Given the description of an element on the screen output the (x, y) to click on. 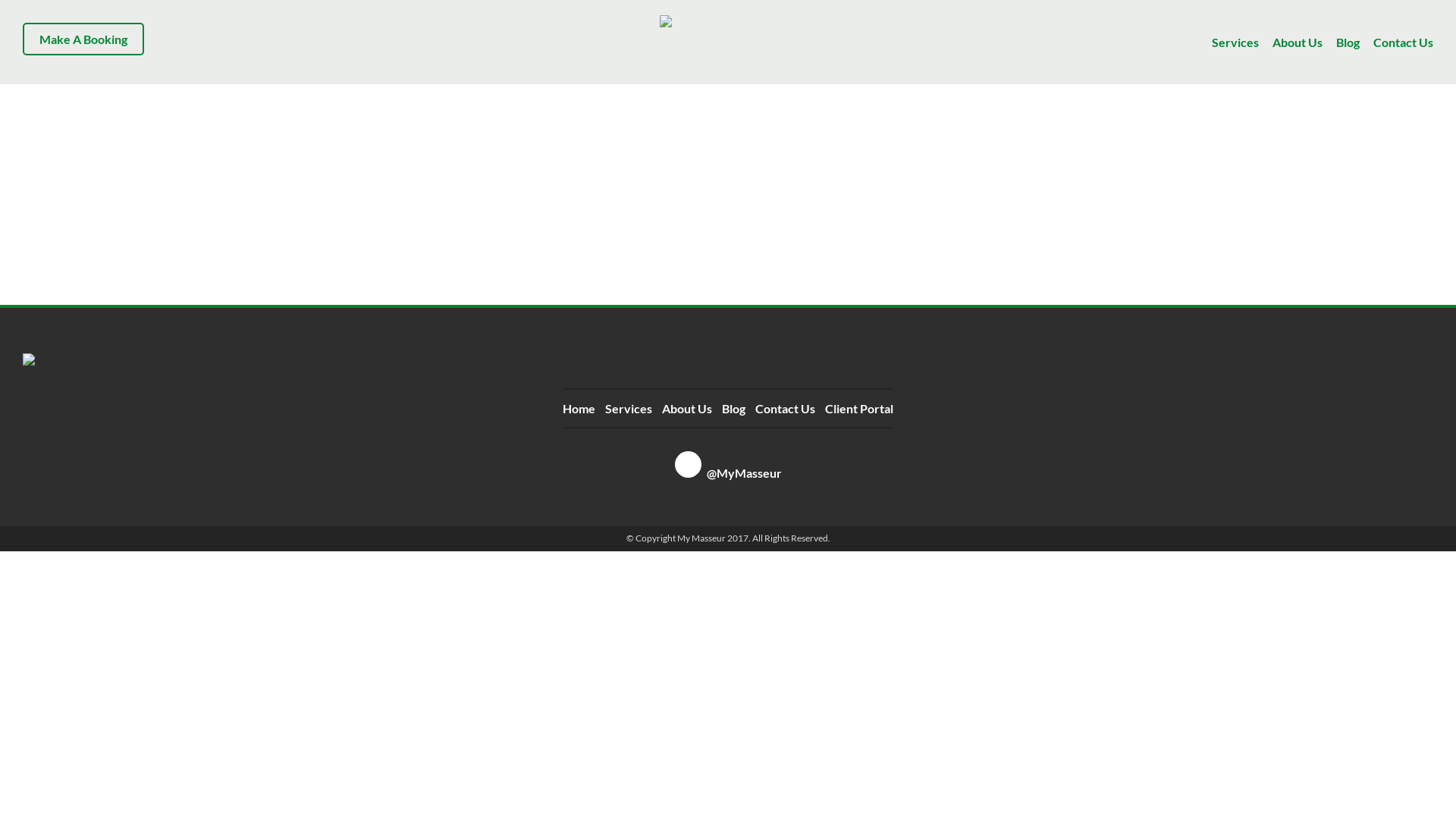
Services Element type: text (1234, 41)
Make A Booking Element type: text (83, 38)
Services Element type: text (628, 408)
About Us Element type: text (687, 408)
Blog Element type: text (1347, 41)
Contact Us Element type: text (785, 408)
Home Element type: text (578, 408)
About Us Element type: text (1297, 41)
Contact Us Element type: text (1403, 41)
@MyMasseur Element type: text (727, 472)
Client Portal Element type: text (859, 408)
Blog Element type: text (733, 408)
